Given the description of an element on the screen output the (x, y) to click on. 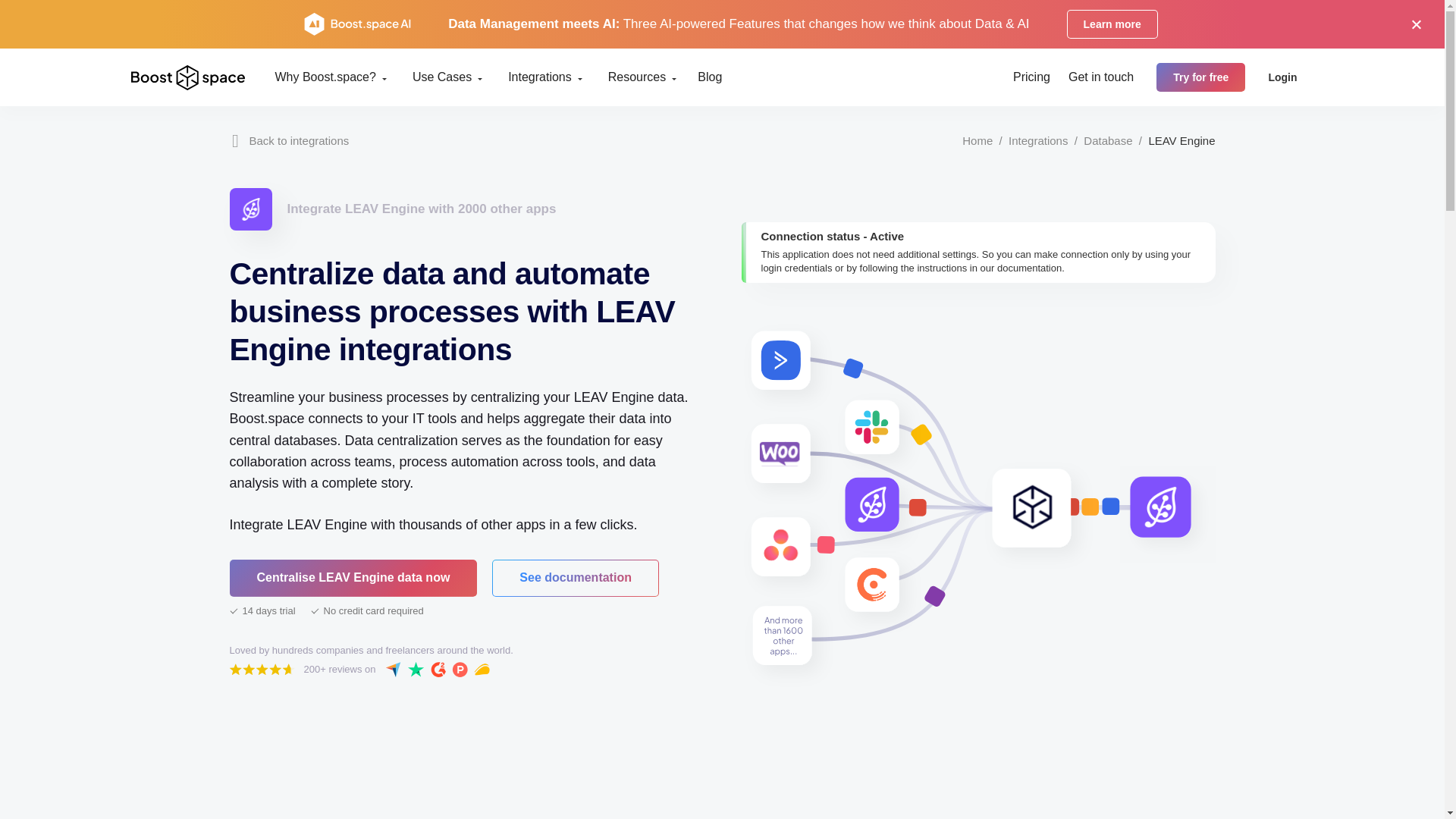
Learn more (1112, 23)
Learn more (1112, 23)
Integrations (540, 77)
Use Cases (442, 77)
Why Boost.space? (325, 77)
